Given the description of an element on the screen output the (x, y) to click on. 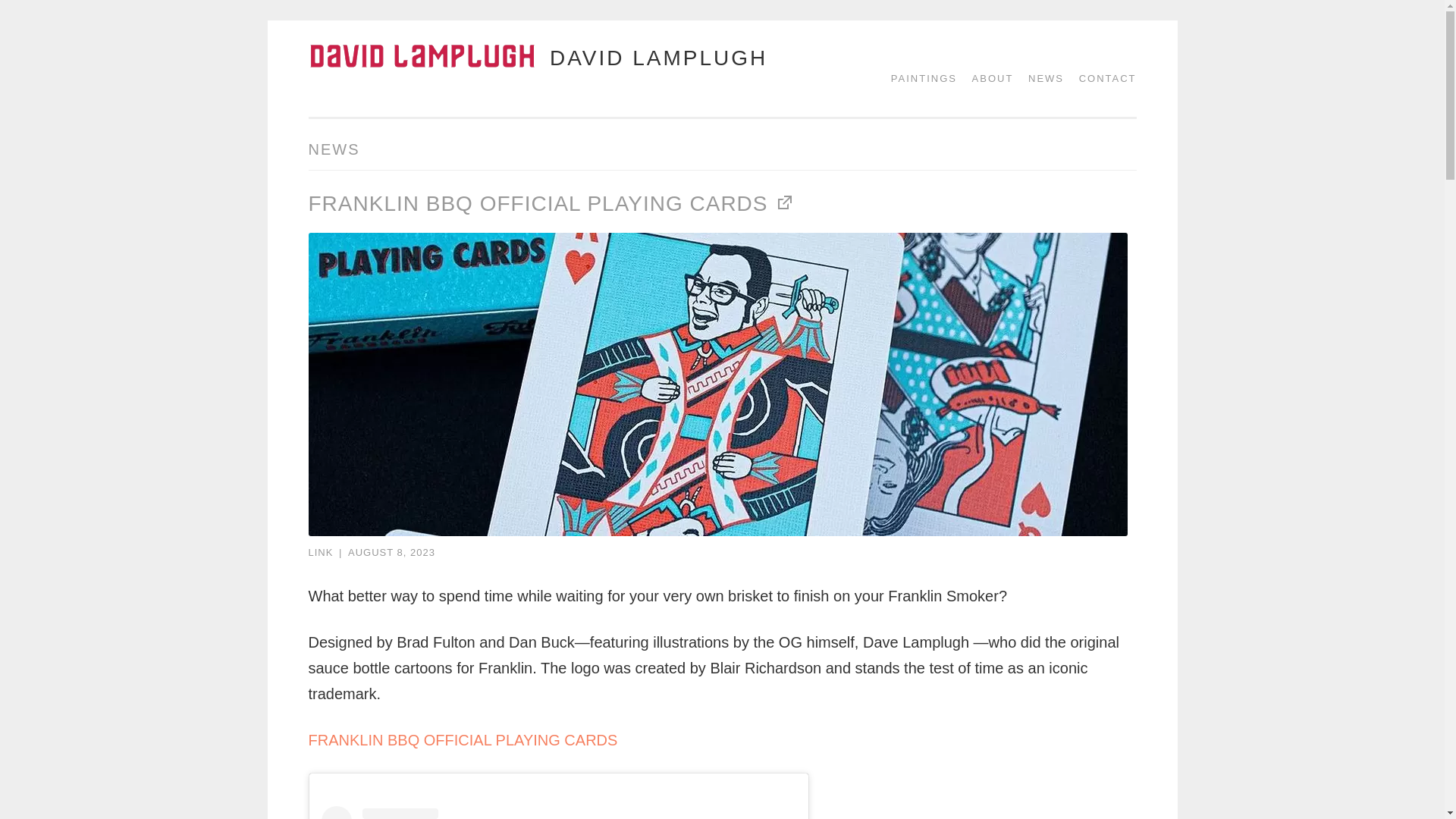
All Link posts (320, 552)
ABOUT (986, 78)
FRANKLIN BBQ OFFICIAL PLAYING CARDS (462, 740)
PAINTINGS (918, 78)
CONTACT (1102, 78)
LINK (320, 552)
NEWS (1040, 78)
About David Lamplugh (986, 78)
DAVID LAMPLUGH (658, 56)
AUGUST 8, 2023 (391, 552)
FRANKLIN BBQ OFFICIAL PLAYING CARDS (551, 203)
View this post on Instagram (558, 812)
